Given the description of an element on the screen output the (x, y) to click on. 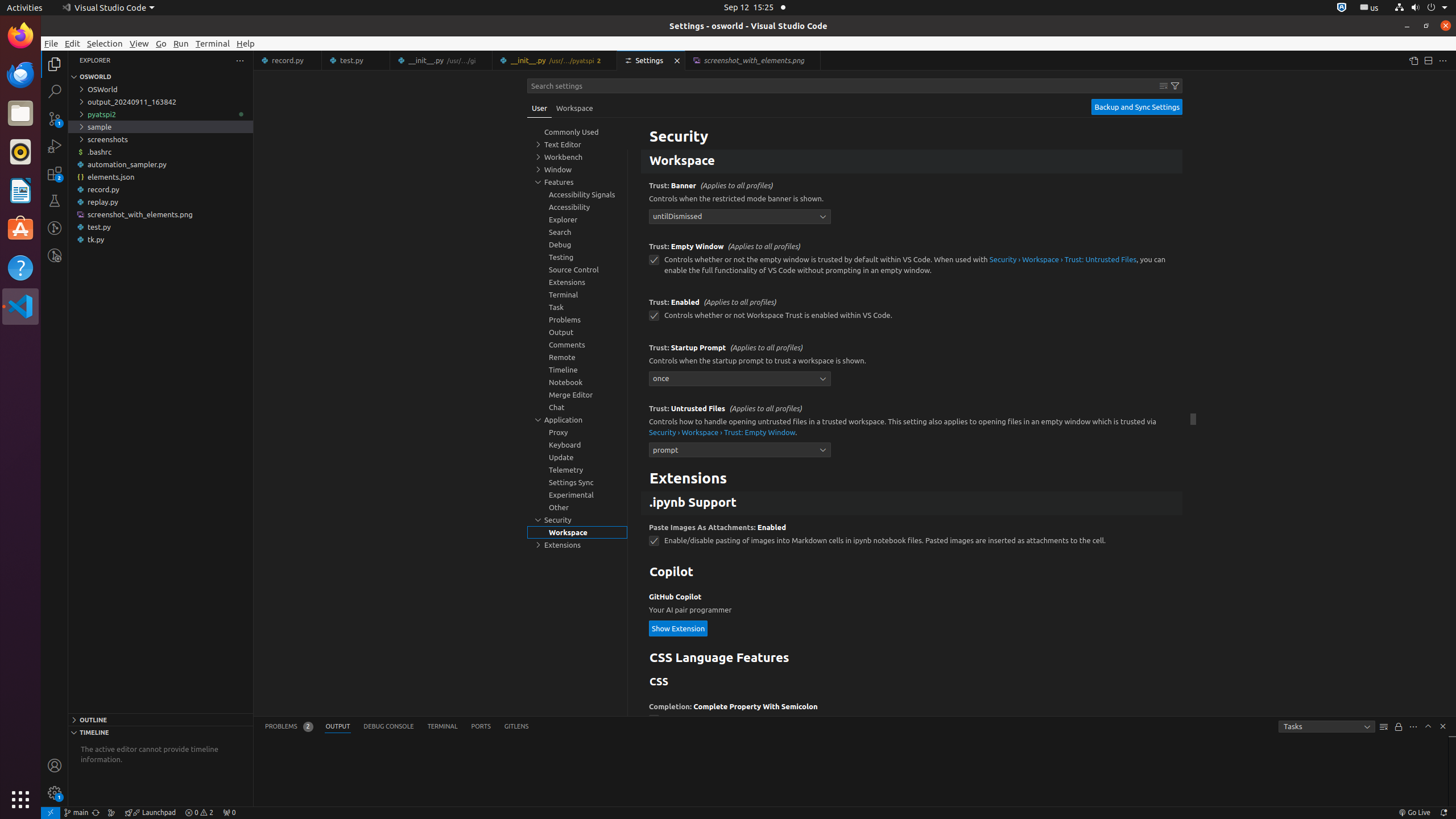
__init__.py Element type: page-tab (554, 60)
Show Extension Element type: push-button (678, 627)
 GitHub Copilot. Your AI pair programmer  Element type: tree-item (911, 615)
Trust Enabled. Setting value retained when switching profiles. Controls whether or not Workspace Trust is enabled within VS Code.  Element type: tree-item (911, 312)
security.workspace.trust.enabled Element type: check-box (653, 315)
